Given the description of an element on the screen output the (x, y) to click on. 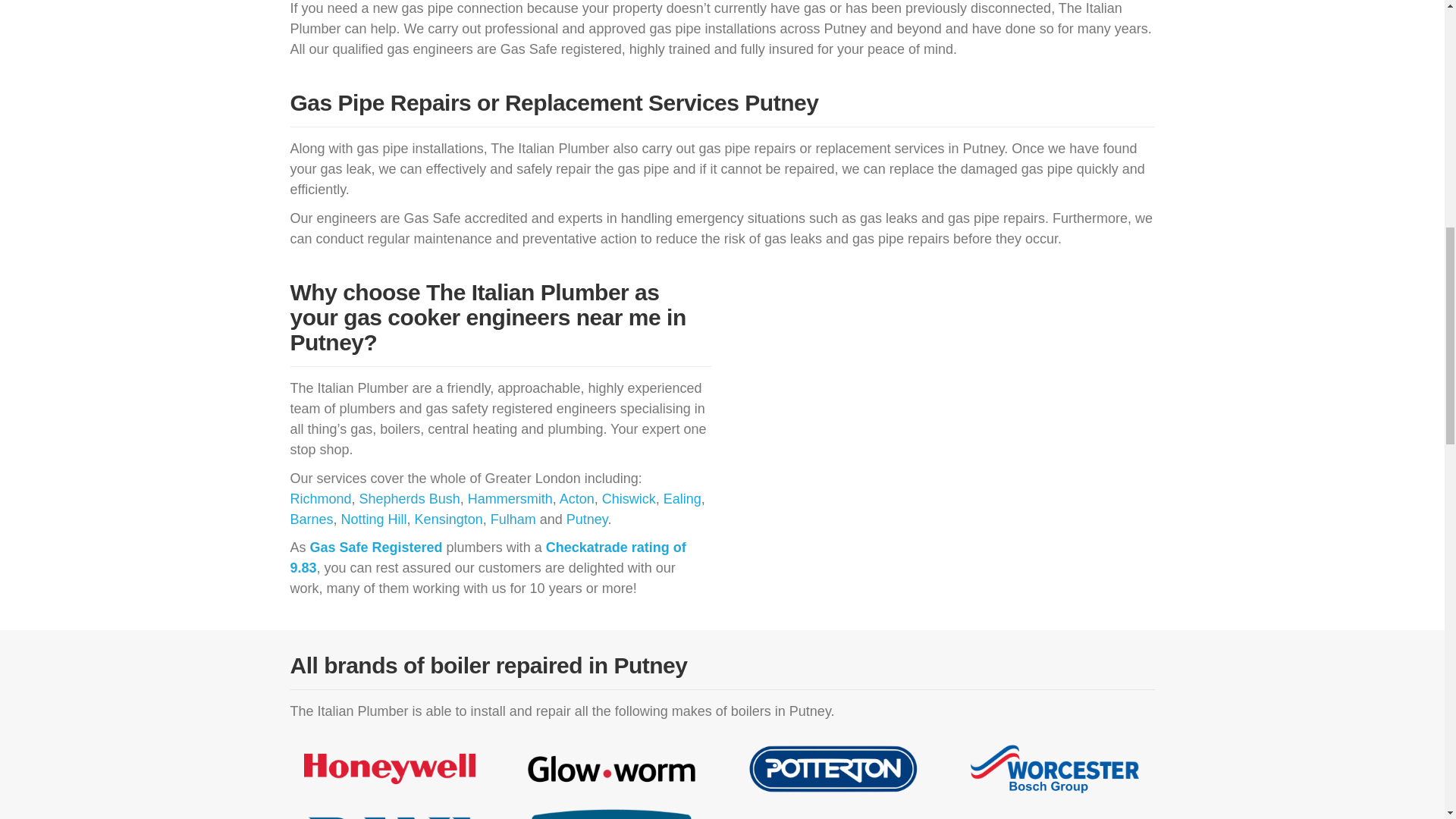
Putney Boiler Repairs (611, 768)
Boiler Repairs Putney (389, 768)
Boiler Servicing Putney (834, 814)
Boiler Installation Putney (834, 768)
Boiler Engineer Putney (1055, 814)
Putney Boiler Repair (611, 814)
Boiler Repair Putney (389, 814)
Boiler Engineers Putney (1055, 768)
